Given the description of an element on the screen output the (x, y) to click on. 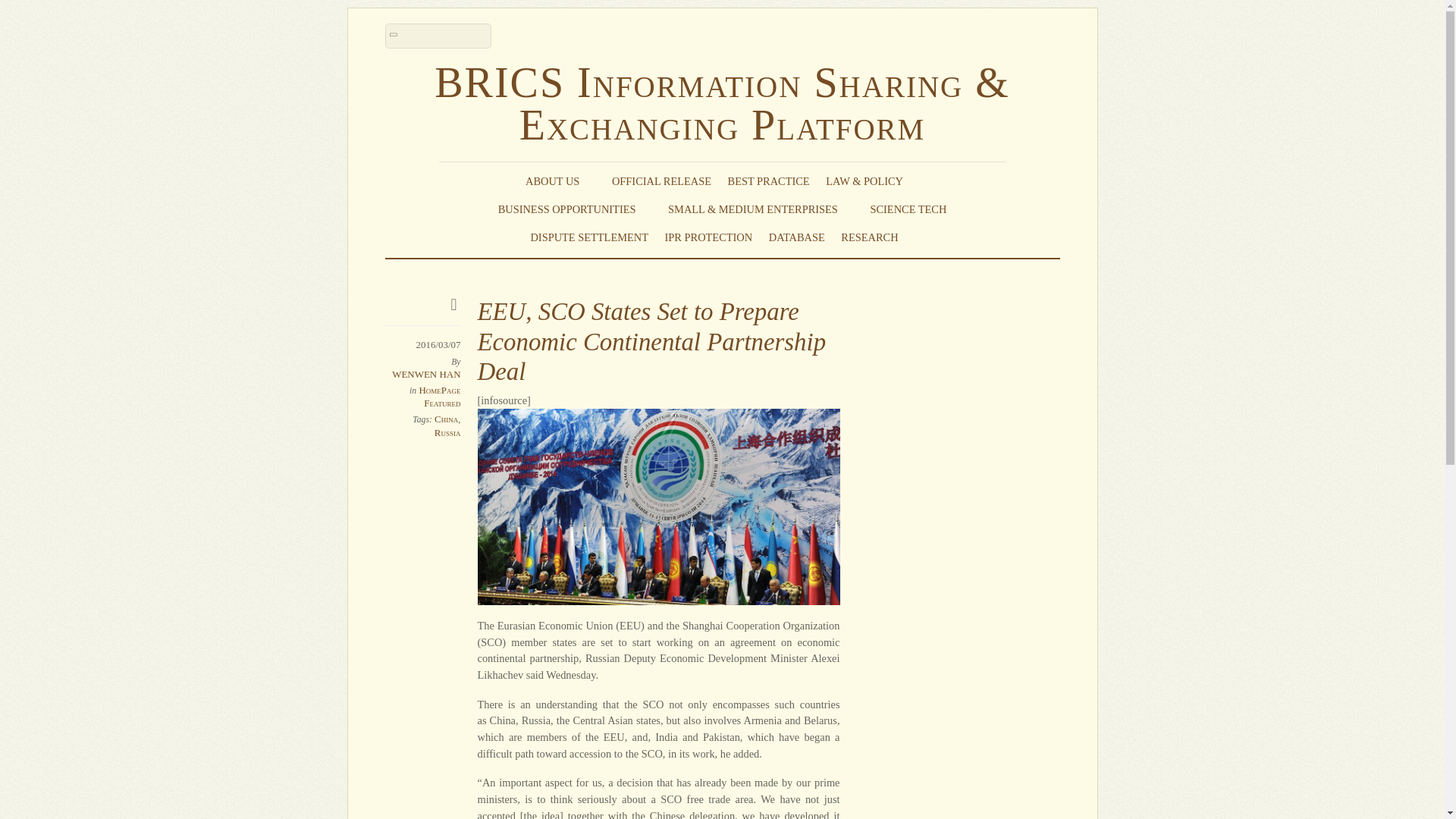
HomePage Featured (439, 396)
OFFICIAL RELEASE (661, 180)
DATABASE (796, 237)
RESEARCH (877, 237)
Russia (447, 432)
China (445, 419)
SCIENCE TECH (908, 209)
BUSINESS OPPORTUNITIES (575, 209)
IPR PROTECTION (709, 237)
BEST PRACTICE (768, 180)
DISPUTE SETTLEMENT (588, 237)
Search (438, 35)
ABOUT US (559, 180)
WENWEN HAN (425, 374)
